Given the description of an element on the screen output the (x, y) to click on. 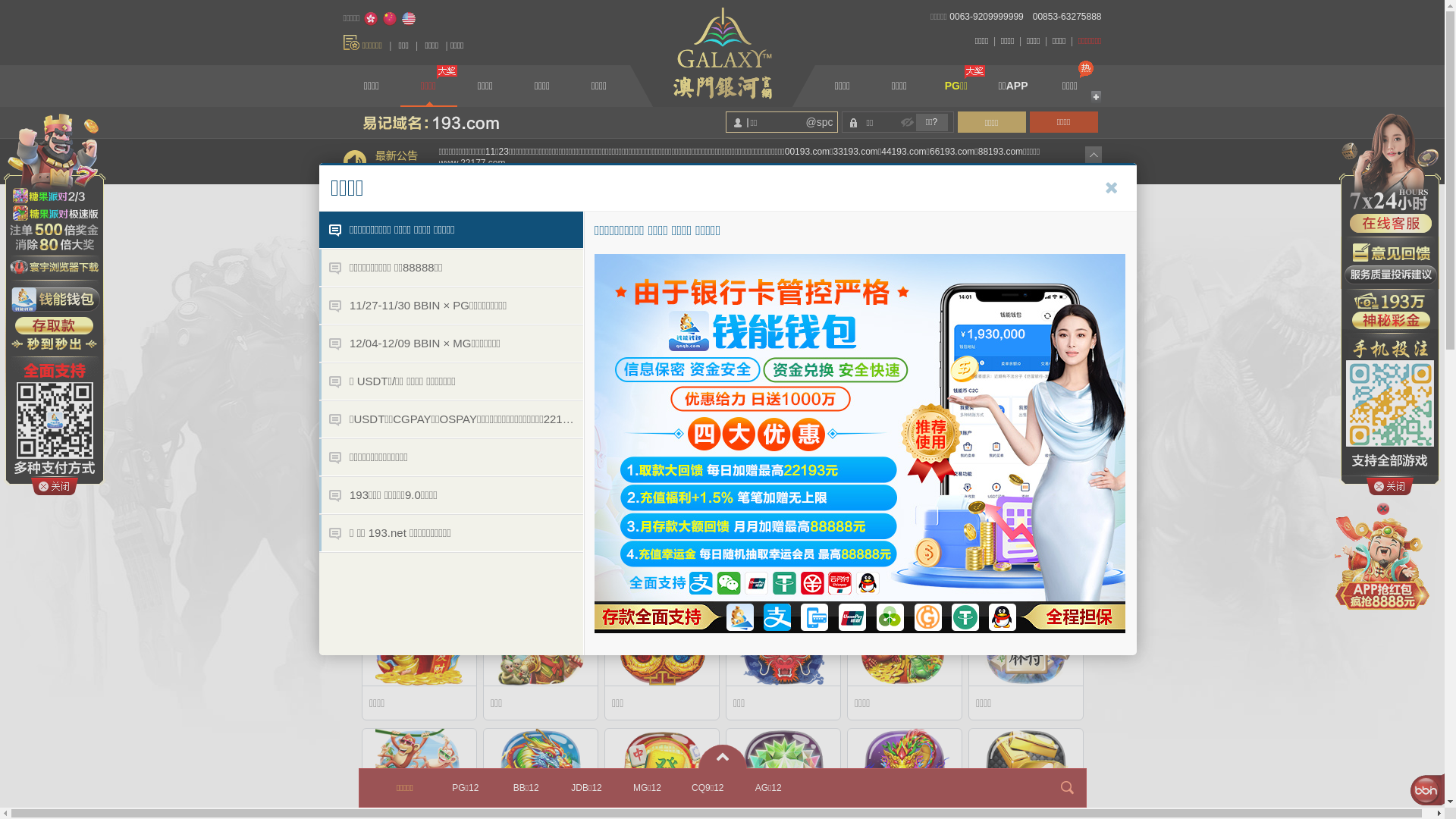
English Element type: hover (408, 18)
